Given the description of an element on the screen output the (x, y) to click on. 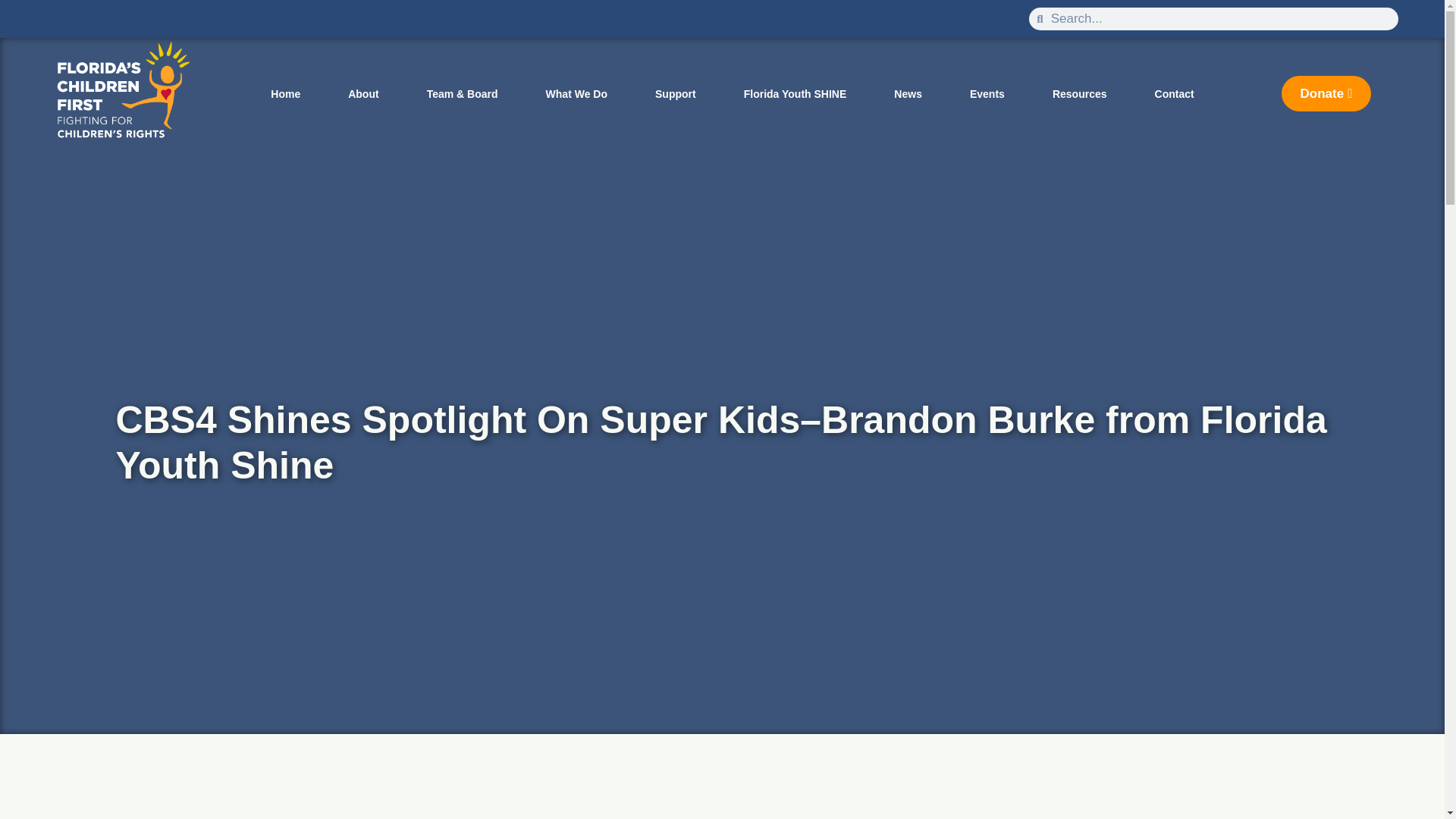
About (363, 93)
Home (285, 93)
News (908, 93)
Events (985, 93)
Support (674, 93)
What We Do (575, 93)
Resources (1079, 93)
Florida Youth SHINE (794, 93)
